Given the description of an element on the screen output the (x, y) to click on. 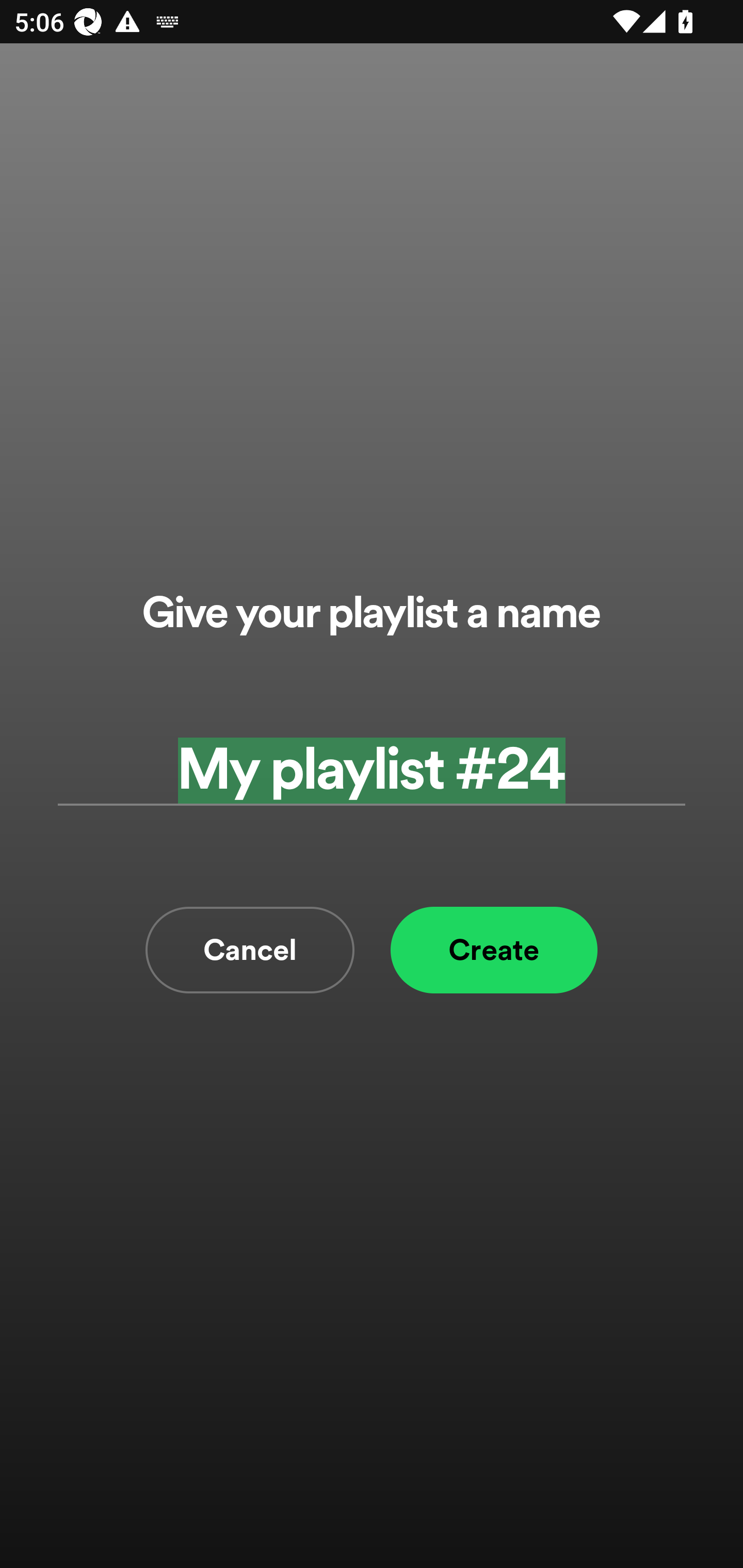
My playlist #24 Add a playlist name (371, 769)
Cancel (249, 950)
Create (493, 950)
